Given the description of an element on the screen output the (x, y) to click on. 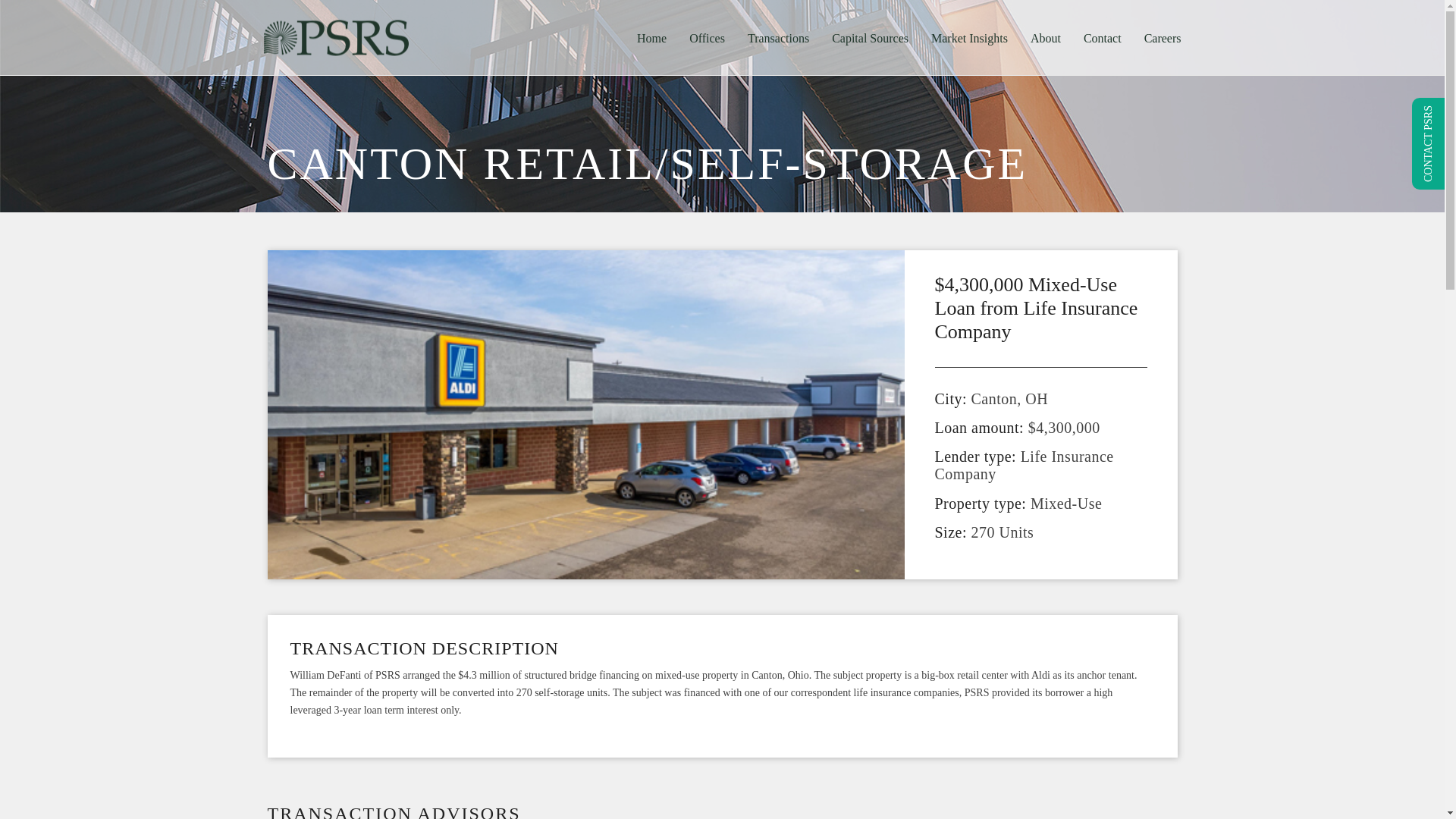
Capital Sources (870, 38)
Capital Sources (870, 38)
Commercial Real Estate Financial Expertise (336, 37)
Careers (1162, 38)
Market Insights (969, 38)
Market Insights (969, 38)
About (1045, 38)
Transactions (778, 38)
Contact (1101, 38)
Contact (1101, 38)
Transactions (778, 38)
Careers (1162, 38)
Offices (707, 38)
Offices (707, 38)
Home (652, 38)
